Given the description of an element on the screen output the (x, y) to click on. 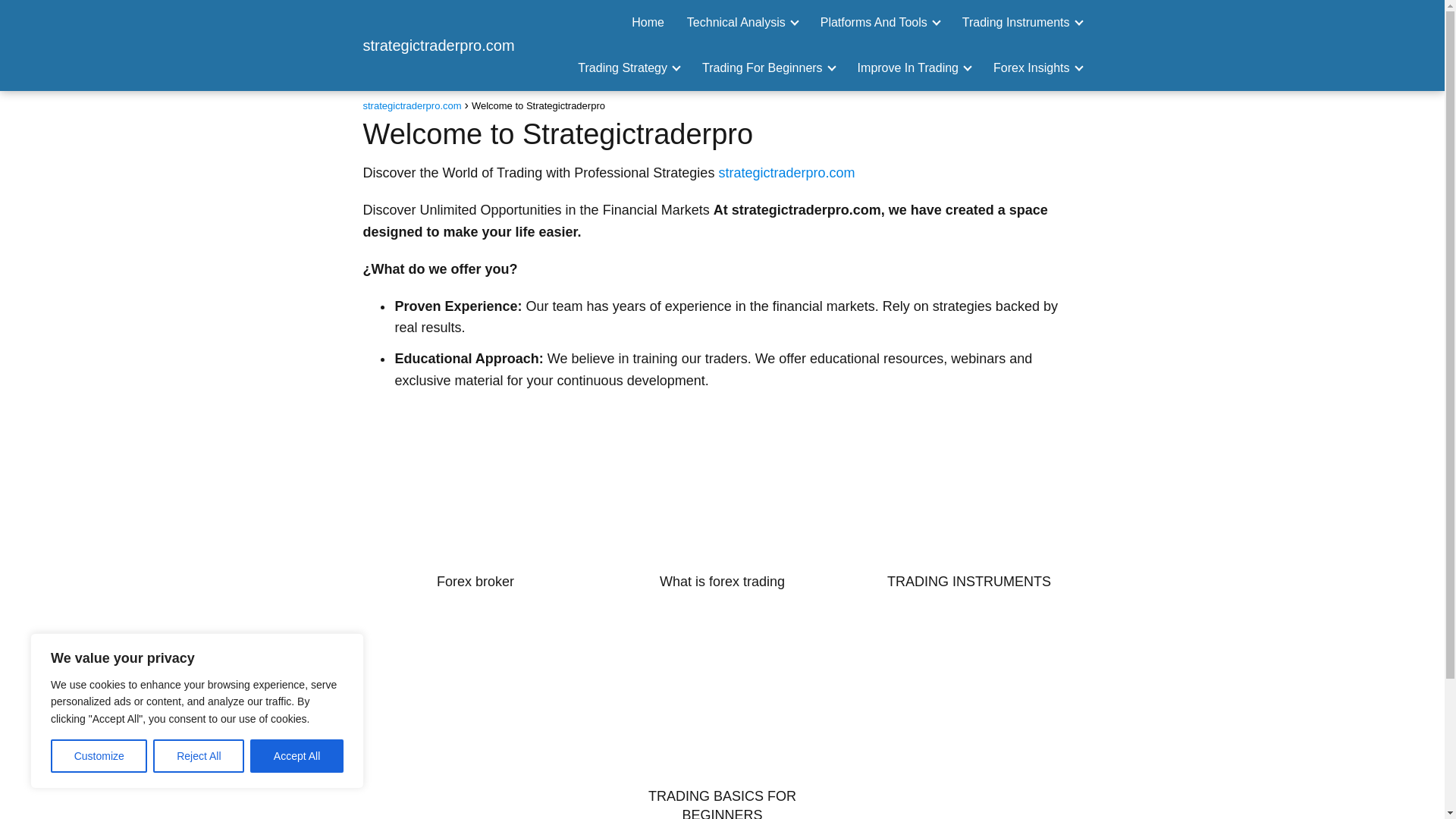
Home (647, 21)
Customize (98, 756)
Trading Strategy (625, 67)
Technical Analysis (739, 21)
strategictraderpro.com (437, 45)
Accept All (296, 756)
Reject All (198, 756)
Trading Instruments (1018, 21)
Trading For Beginners (764, 67)
Platforms And Tools (877, 21)
